Given the description of an element on the screen output the (x, y) to click on. 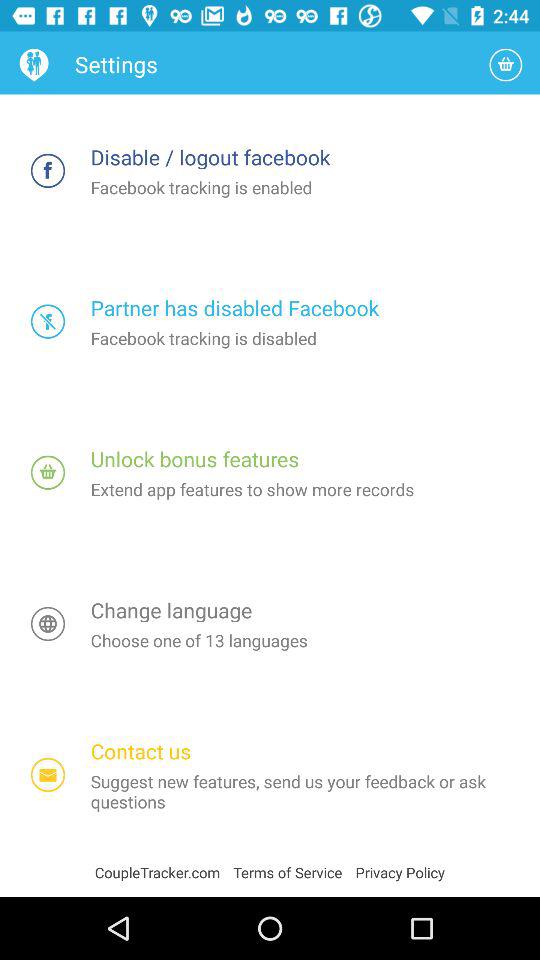
turn off the item next to the terms of service icon (399, 872)
